Given the description of an element on the screen output the (x, y) to click on. 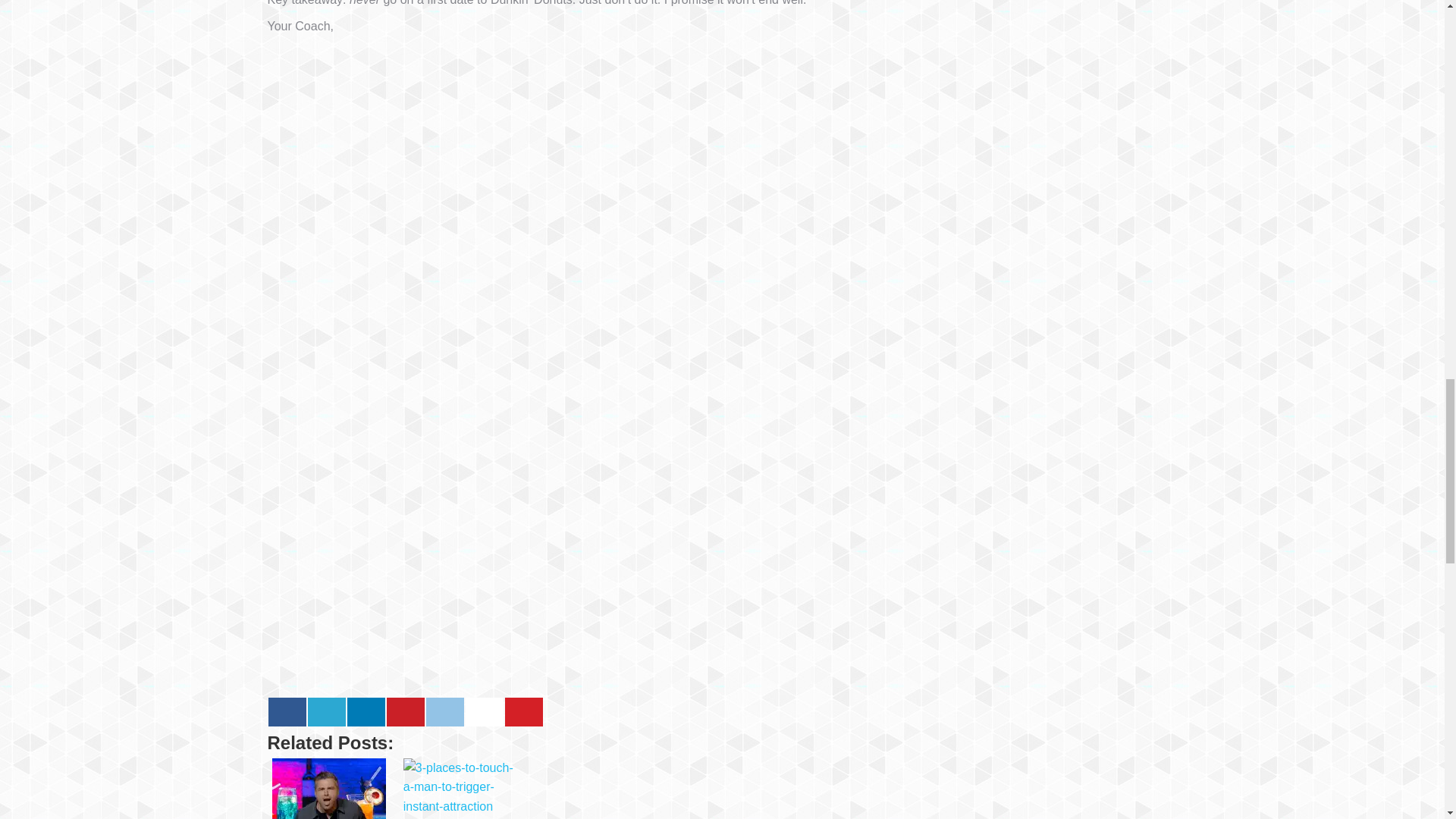
Share On Stumbleupon (484, 711)
4 Words to NEVER Say on a First Date (590, 788)
Share On Reddit (445, 711)
Share On Facebook (286, 711)
3 Places to Touch a Man to Trigger Instant Attraction (459, 788)
How to Date Someone Out of Your League (721, 788)
Share On Twitter (326, 711)
Share On Pinterest (406, 711)
Share On Linkedin (366, 711)
Share On Youtube (524, 711)
